Given the description of an element on the screen output the (x, y) to click on. 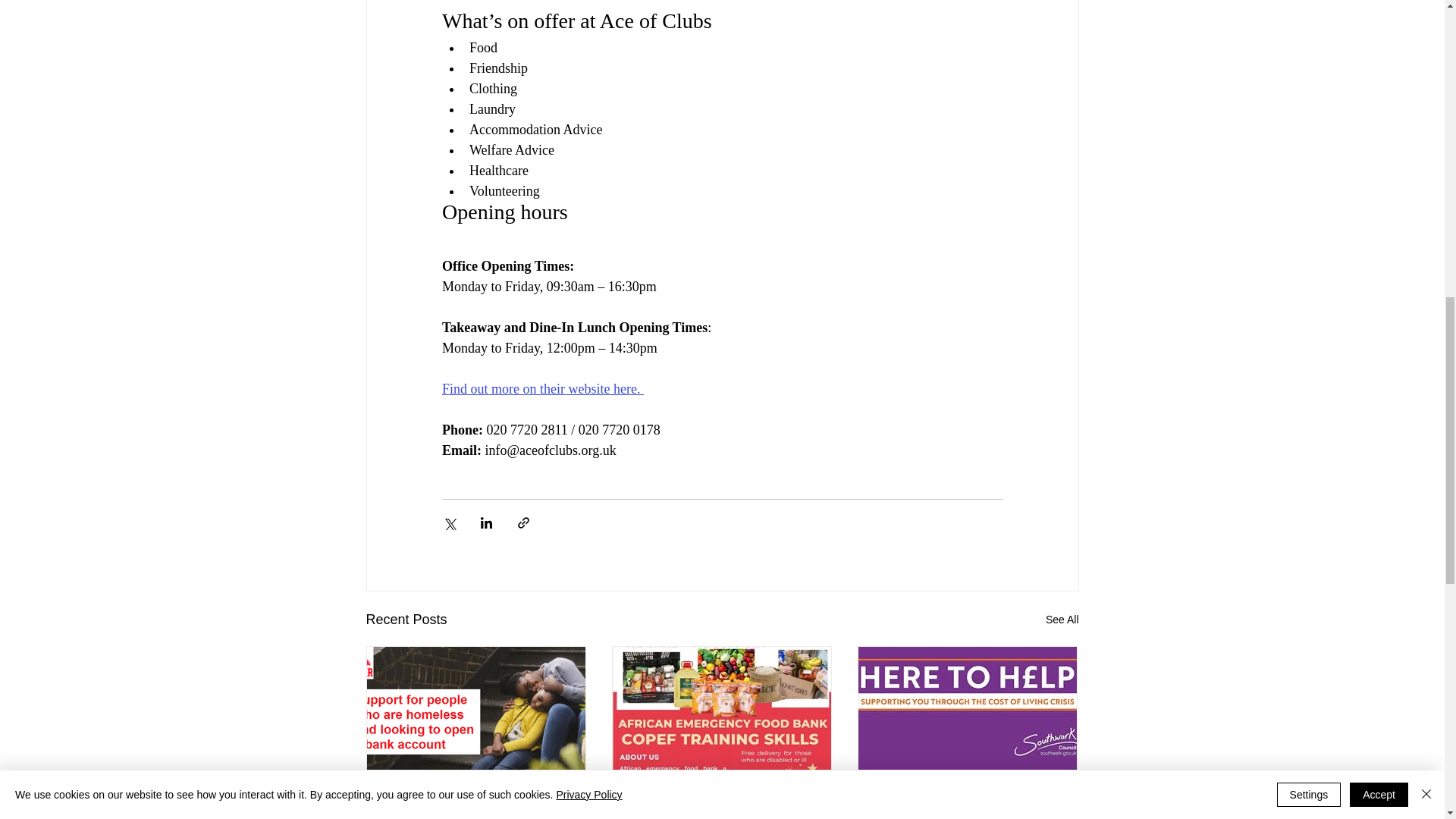
Find out more on their website here.  (542, 388)
See All (1061, 619)
